Given the description of an element on the screen output the (x, y) to click on. 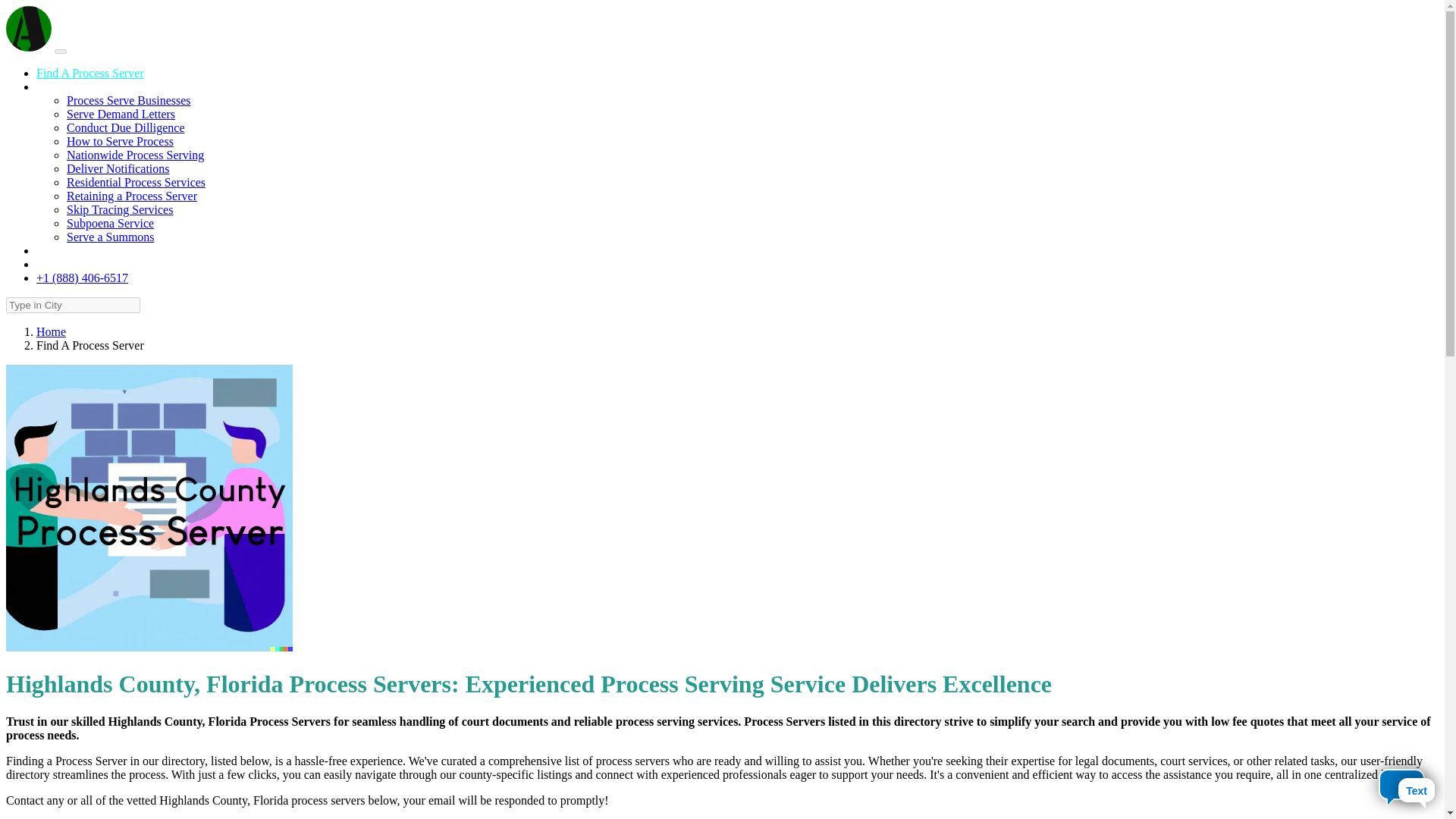
Serve Demand Letters (120, 113)
Nationwide Process Serving (134, 154)
Contact (55, 250)
Find A Process Server (90, 72)
Home (50, 331)
Process Servers Get listed (99, 264)
Conduct Due Dilligence (125, 127)
Process Serve Businesses (128, 100)
Retaining a Process Server (131, 195)
Skip Tracing Services (119, 209)
List of Services (74, 86)
Subpoena Service (110, 223)
Residential Process Services (135, 182)
Serve a Summons (110, 236)
How to Serve Process (119, 141)
